Given the description of an element on the screen output the (x, y) to click on. 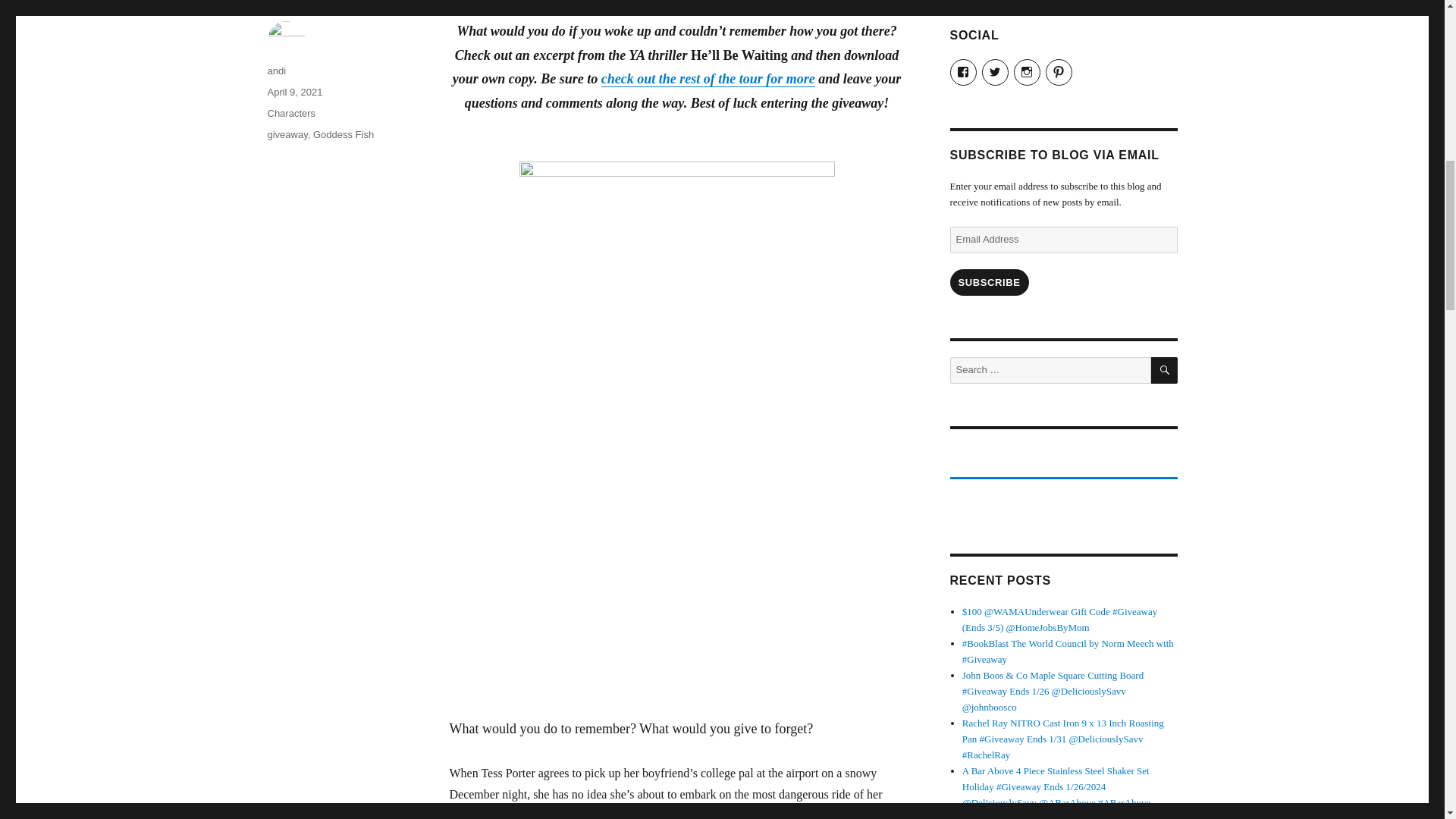
check out the rest of the tour for more (708, 78)
andi (275, 70)
Characters (290, 112)
Goddess Fish (343, 134)
April 9, 2021 (293, 91)
giveaway (286, 134)
